Given the description of an element on the screen output the (x, y) to click on. 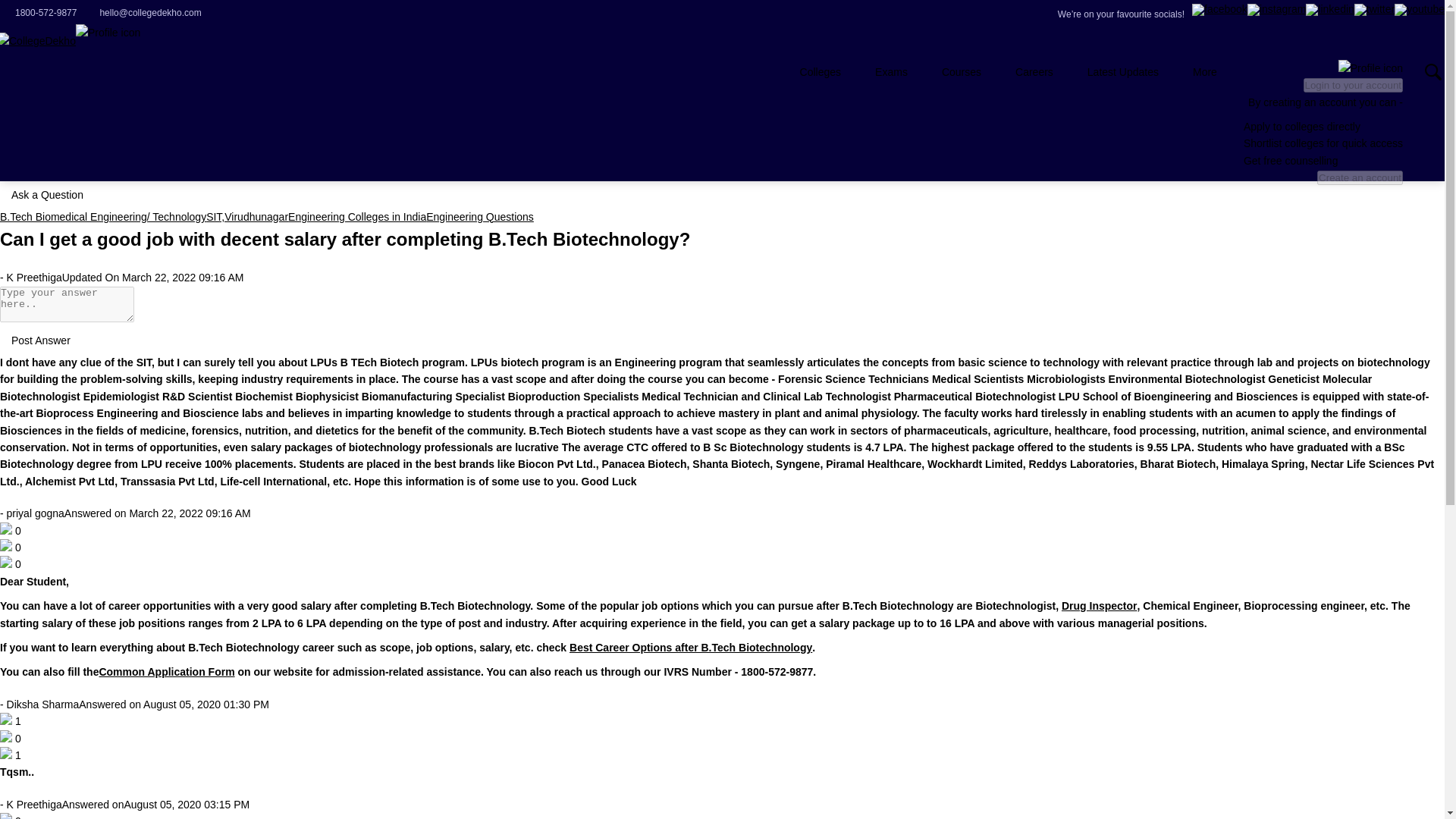
1800-572-9877 (38, 12)
Login to your account (1353, 84)
Create an account (1360, 177)
